Given the description of an element on the screen output the (x, y) to click on. 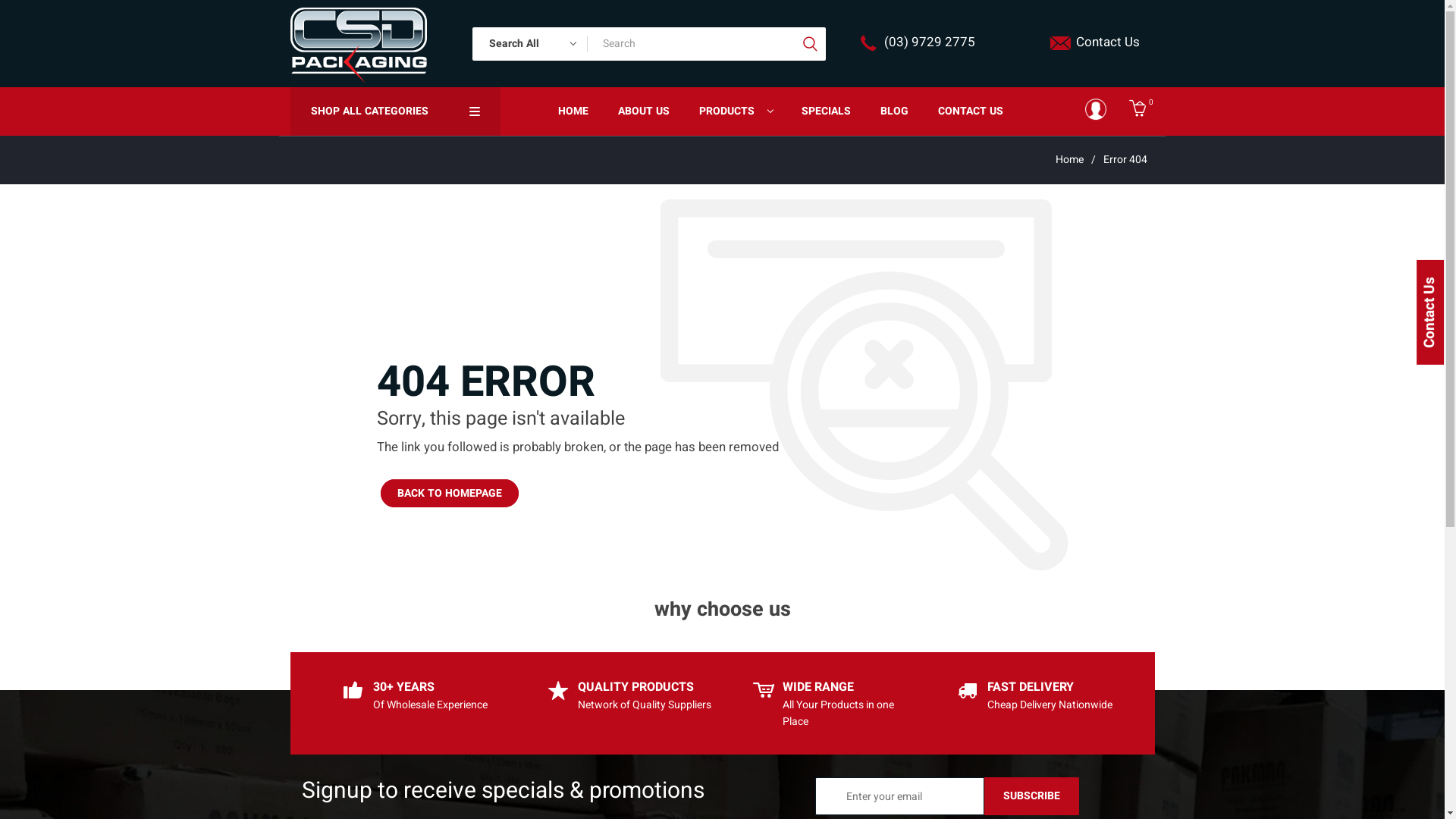
Contact Us Element type: text (1107, 41)
Search Element type: hover (808, 43)
ABOUT US Element type: text (643, 111)
SUBSCRIBE Element type: text (1031, 796)
SHOP ALL CATEGORIES Element type: text (395, 111)
Search All Element type: text (529, 43)
CONTACT US Element type: text (969, 111)
BLOG Element type: text (894, 111)
PRODUCTS Element type: text (734, 111)
Search for: Element type: hover (705, 43)
SPECIALS Element type: text (825, 111)
Home Element type: text (1069, 159)
(03) 9729 2775 Element type: text (929, 41)
HOME Element type: text (572, 111)
BACK TO HOMEPAGE Element type: text (449, 493)
0 Element type: text (1141, 111)
